Given the description of an element on the screen output the (x, y) to click on. 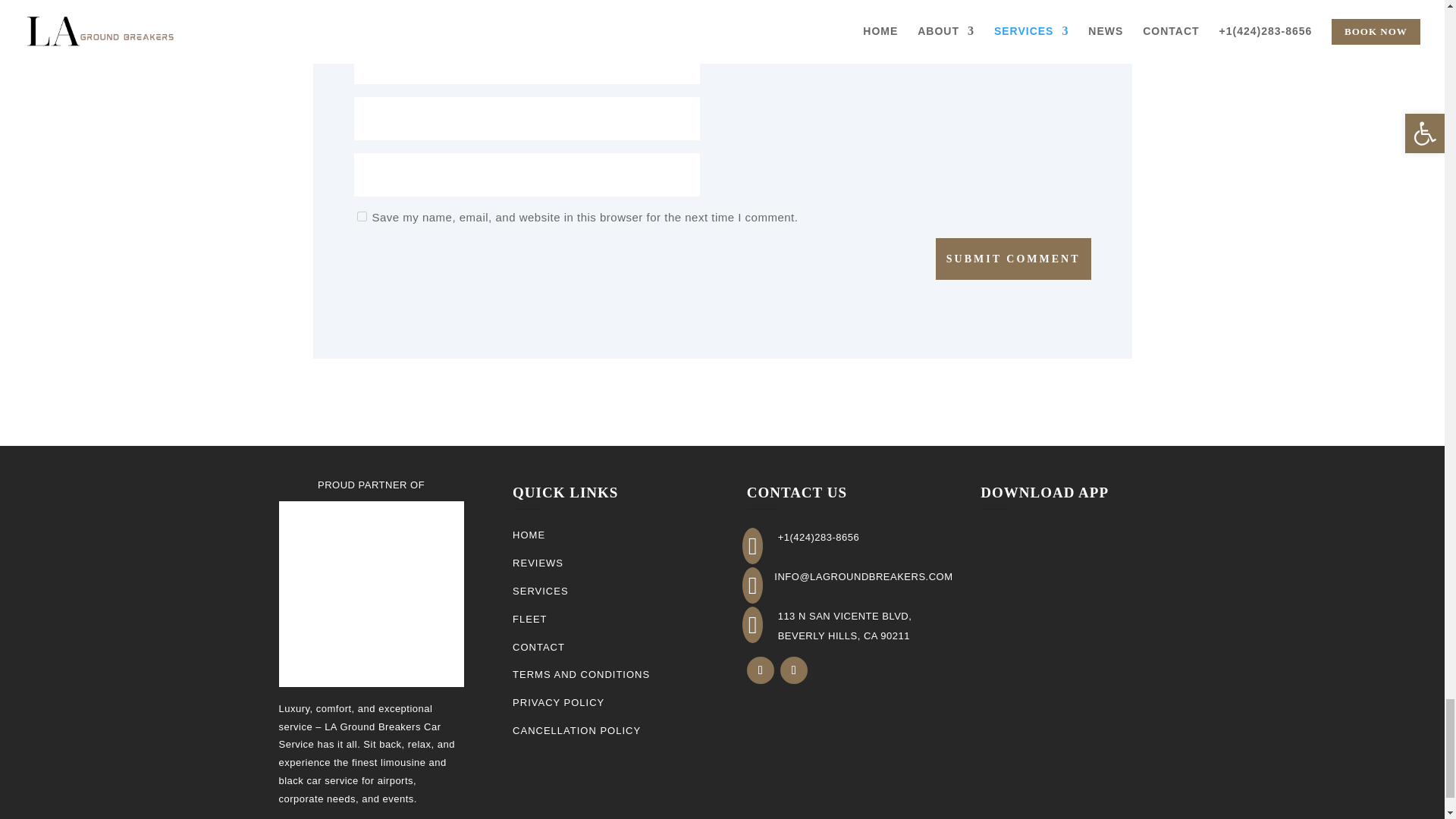
yes (361, 216)
Follow on Instagram (794, 669)
Follow on Facebook (760, 669)
